Given the description of an element on the screen output the (x, y) to click on. 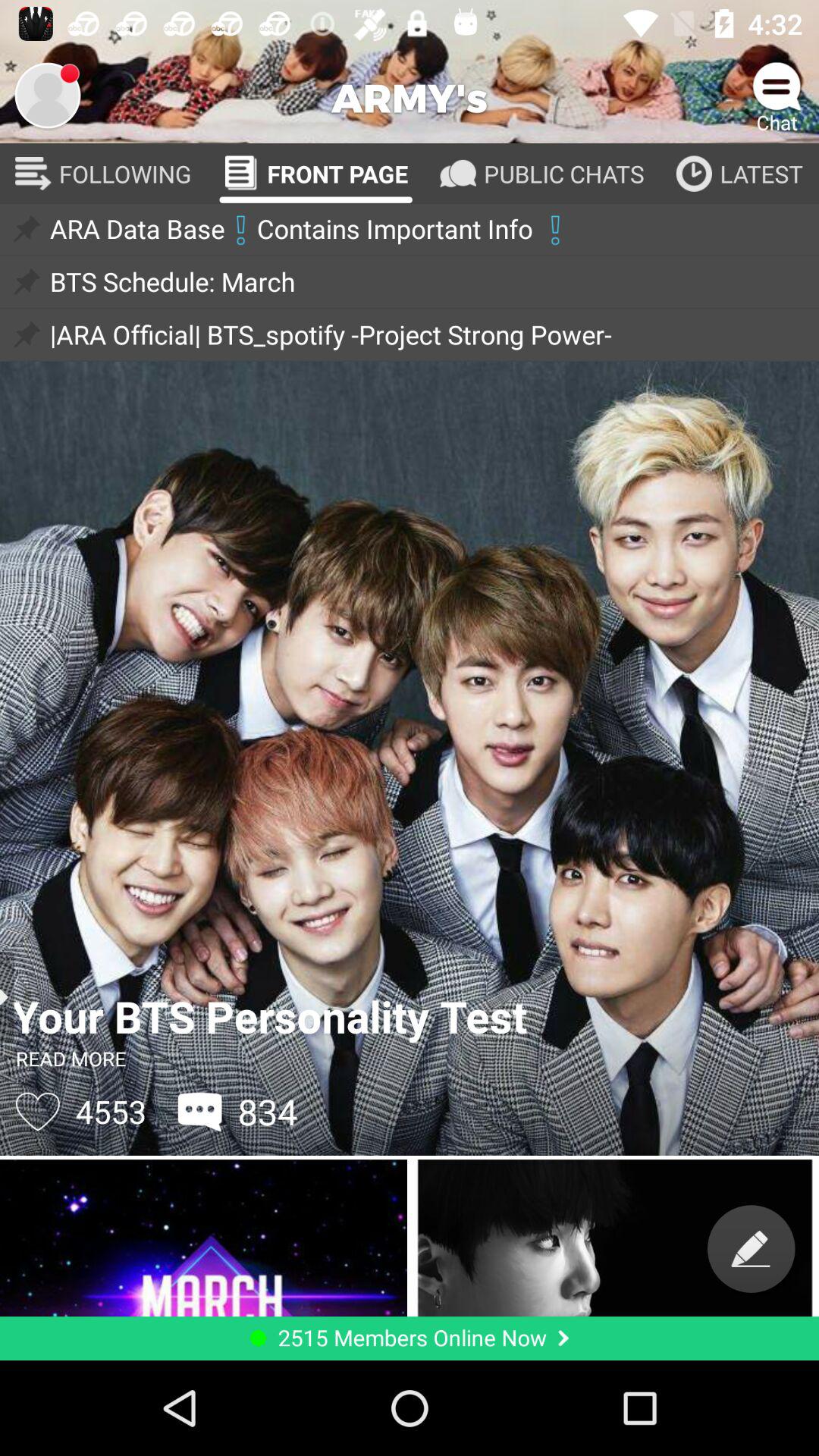
edit (751, 1248)
